Given the description of an element on the screen output the (x, y) to click on. 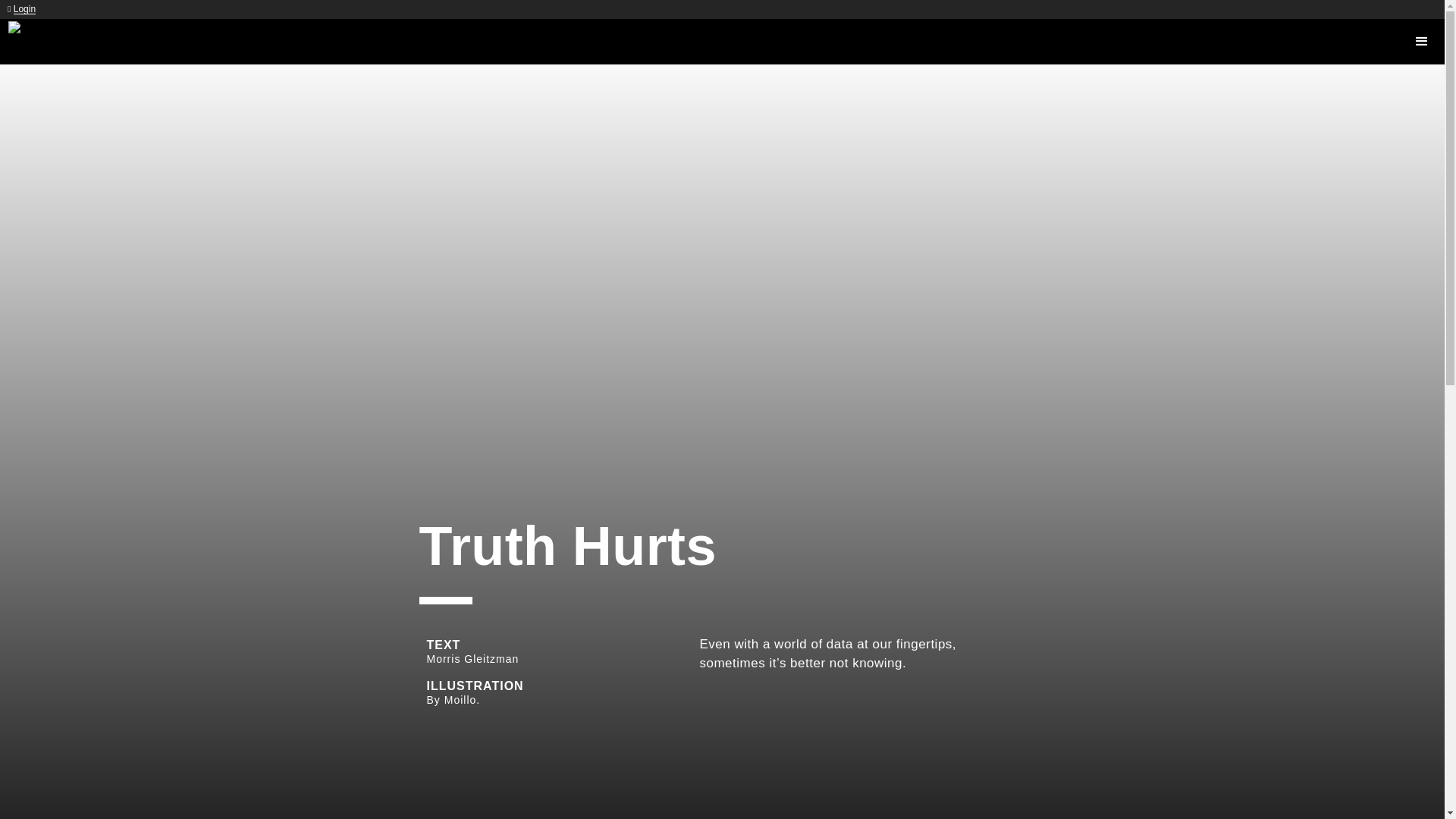
Login (23, 9)
